Given the description of an element on the screen output the (x, y) to click on. 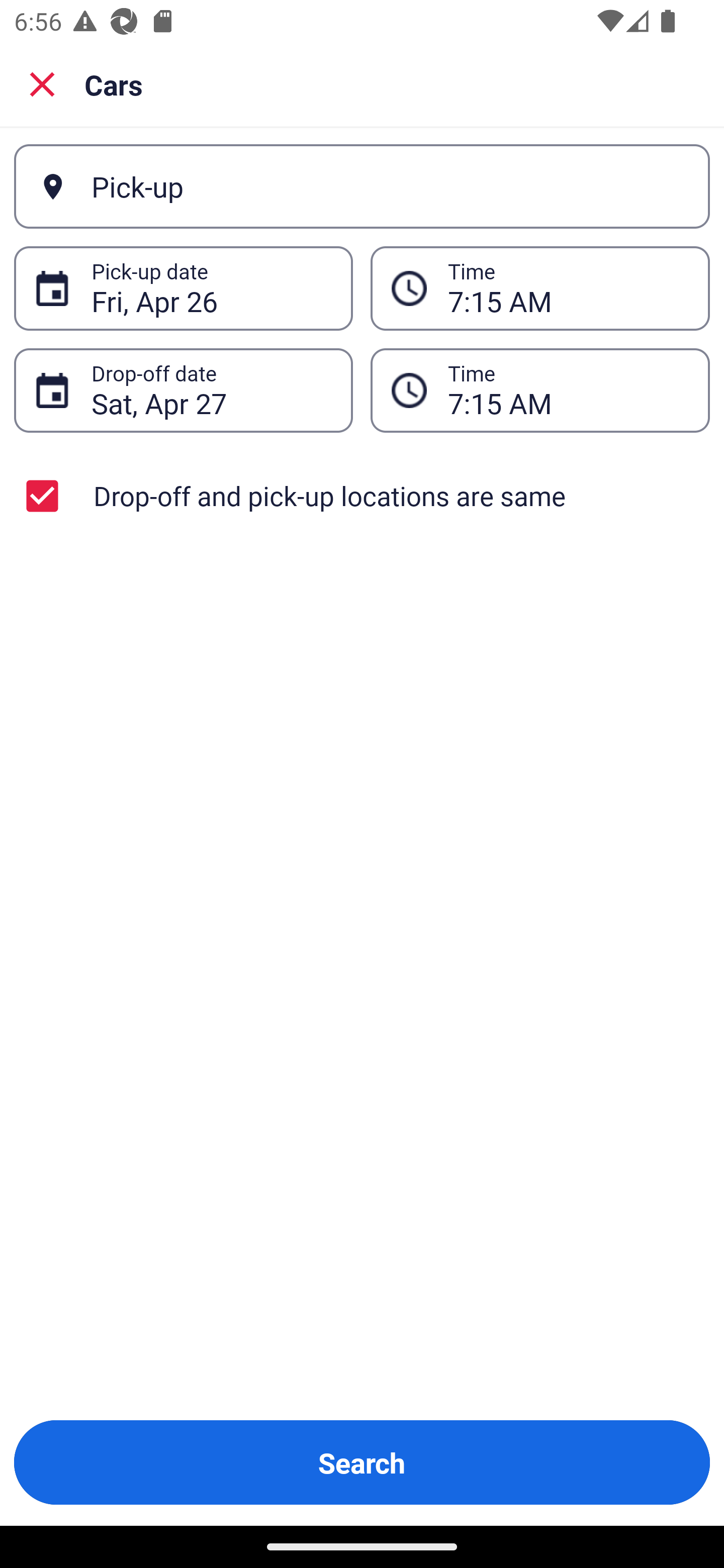
Close search screen (41, 83)
Pick-up (361, 186)
Fri, Apr 26 Pick-up date (183, 288)
7:15 AM (540, 288)
Fri, Apr 26 (211, 288)
7:15 AM (568, 288)
Sat, Apr 27 Drop-off date (183, 390)
7:15 AM (540, 390)
Sat, Apr 27 (211, 390)
7:15 AM (568, 390)
Drop-off and pick-up locations are same (361, 495)
Search Button Search (361, 1462)
